Given the description of an element on the screen output the (x, y) to click on. 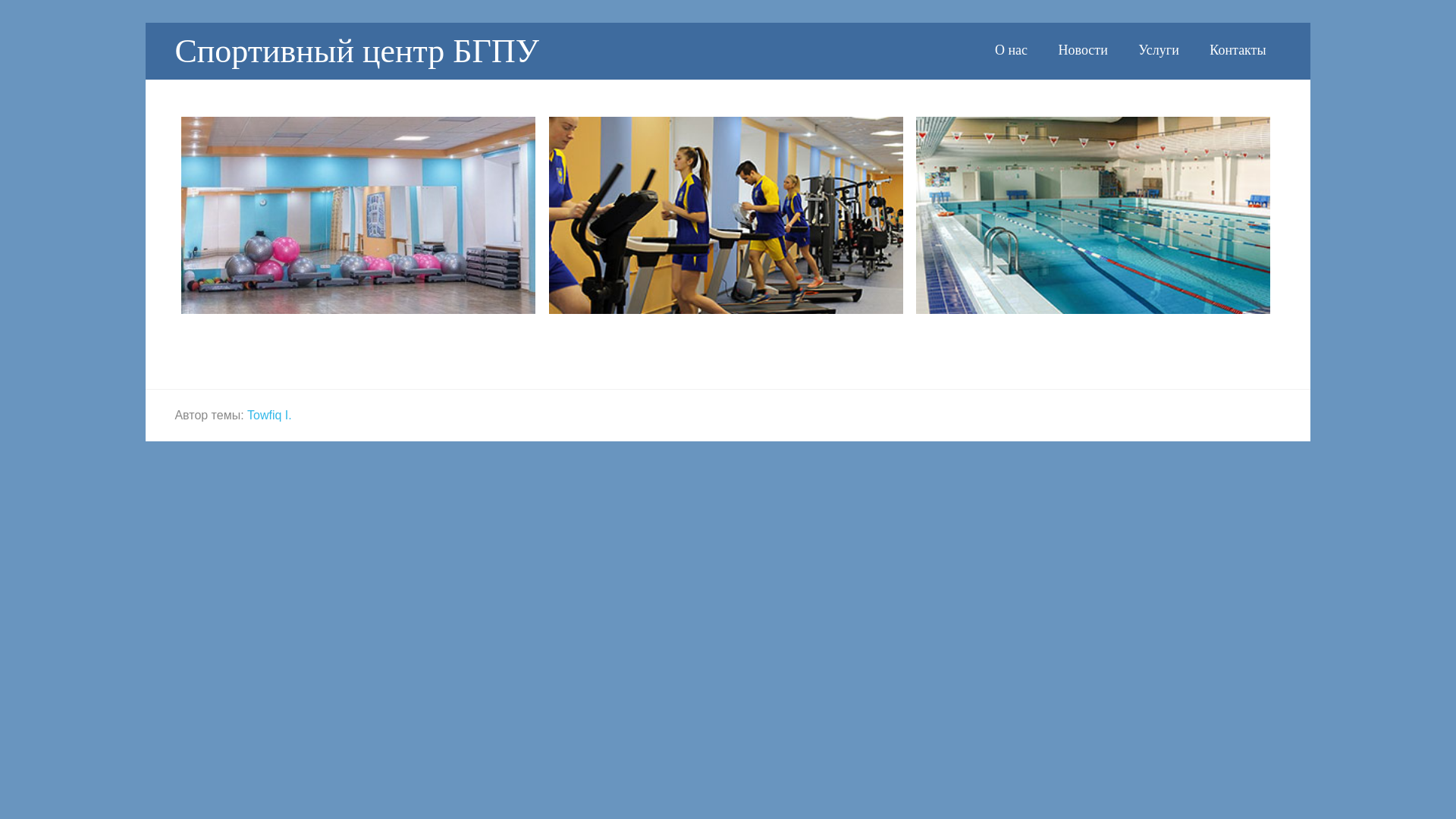
Towfiq I. Element type: text (269, 413)
